Given the description of an element on the screen output the (x, y) to click on. 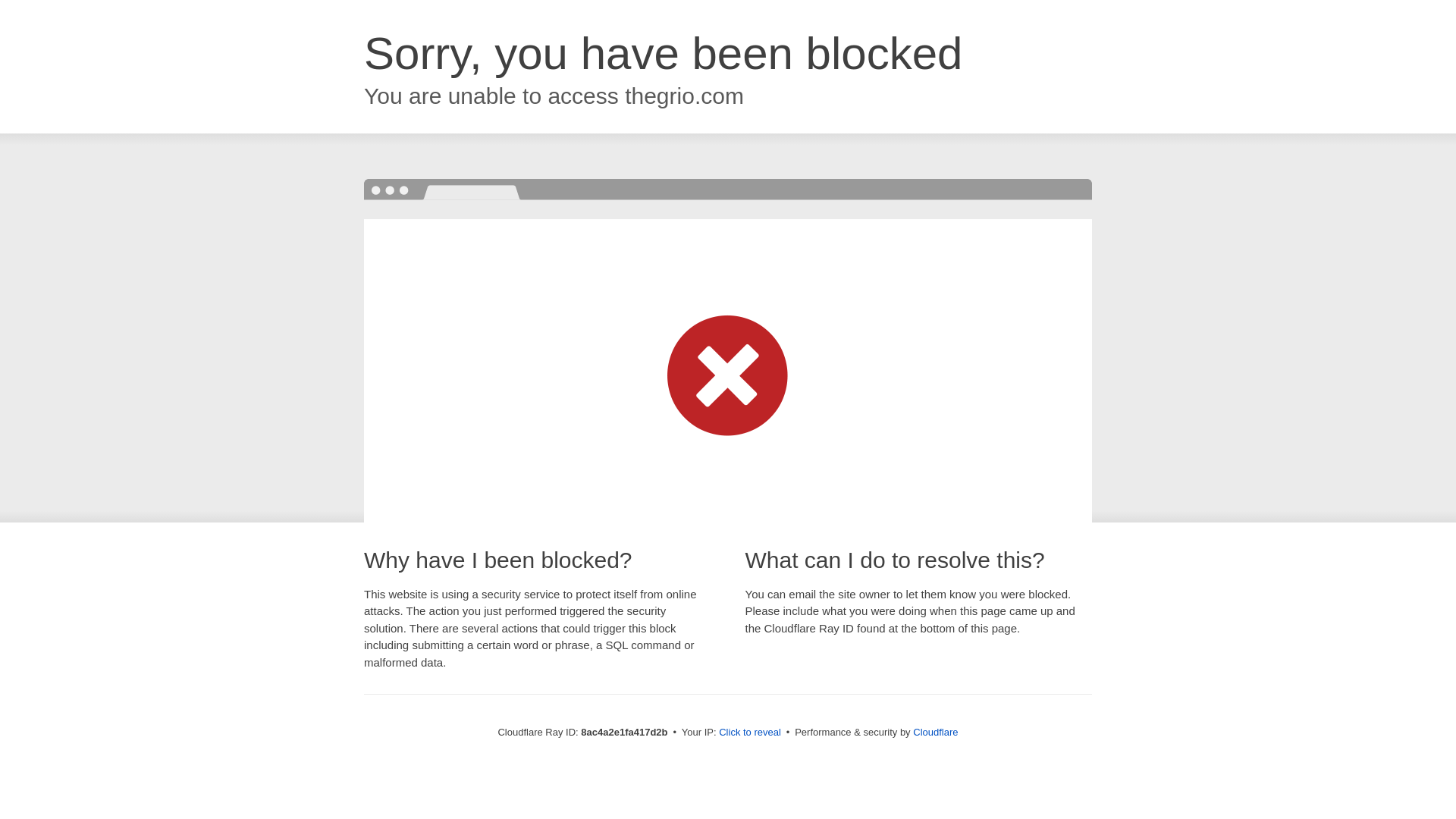
Click to reveal (749, 732)
Cloudflare (935, 731)
